Given the description of an element on the screen output the (x, y) to click on. 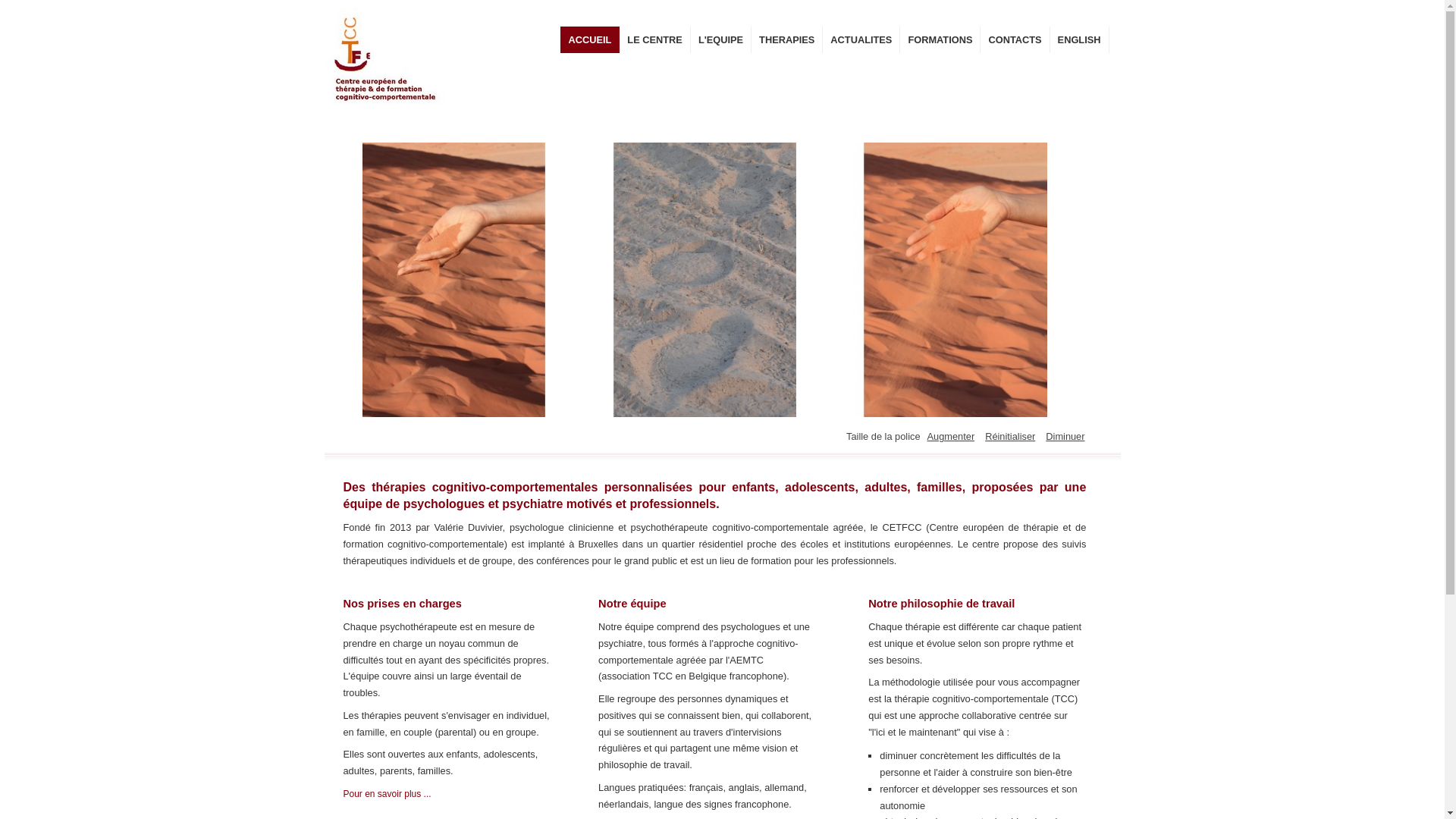
THERAPIES Element type: text (786, 39)
FORMATIONS Element type: text (940, 39)
ACTUALITES Element type: text (861, 39)
L'EQUIPE Element type: text (720, 39)
ENGLISH Element type: text (1079, 39)
CONTACTS Element type: text (1014, 39)
Diminuer Element type: text (1064, 436)
LE CENTRE Element type: text (654, 39)
Pour en savoir plus ... Element type: text (386, 793)
ACCUEIL Element type: text (589, 39)
Augmenter Element type: text (951, 436)
